Given the description of an element on the screen output the (x, y) to click on. 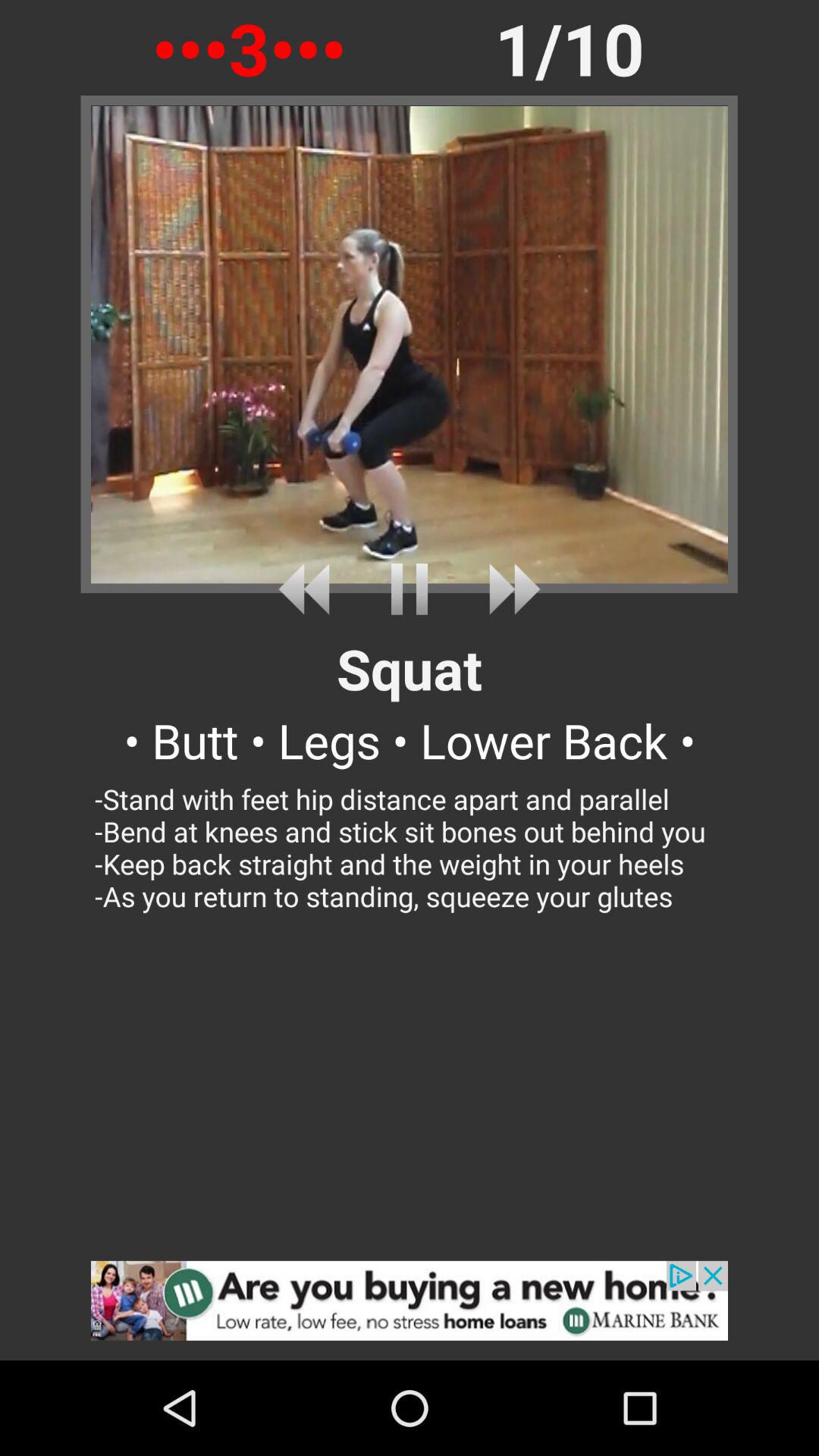
forward (508, 589)
